Given the description of an element on the screen output the (x, y) to click on. 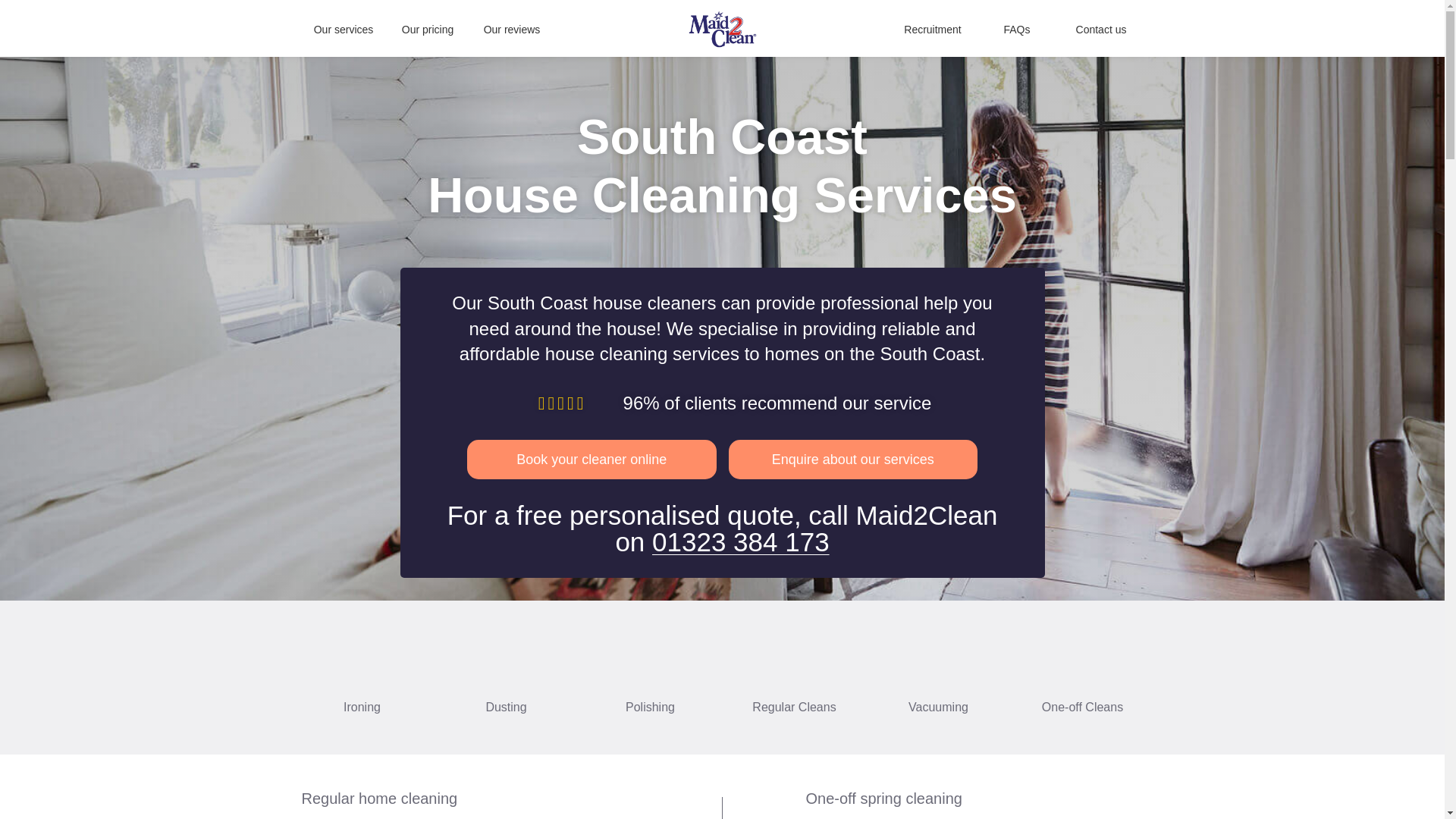
Our pricing (426, 29)
Enquire about our services (852, 459)
Contact us (1100, 29)
01323 384 173 (740, 541)
Recruitment (932, 29)
Our pricing (426, 29)
Our services (344, 29)
Our reviews (511, 29)
Our services (344, 29)
Our reviews (511, 29)
FAQs (1016, 29)
Book your cleaner online (591, 459)
